Given the description of an element on the screen output the (x, y) to click on. 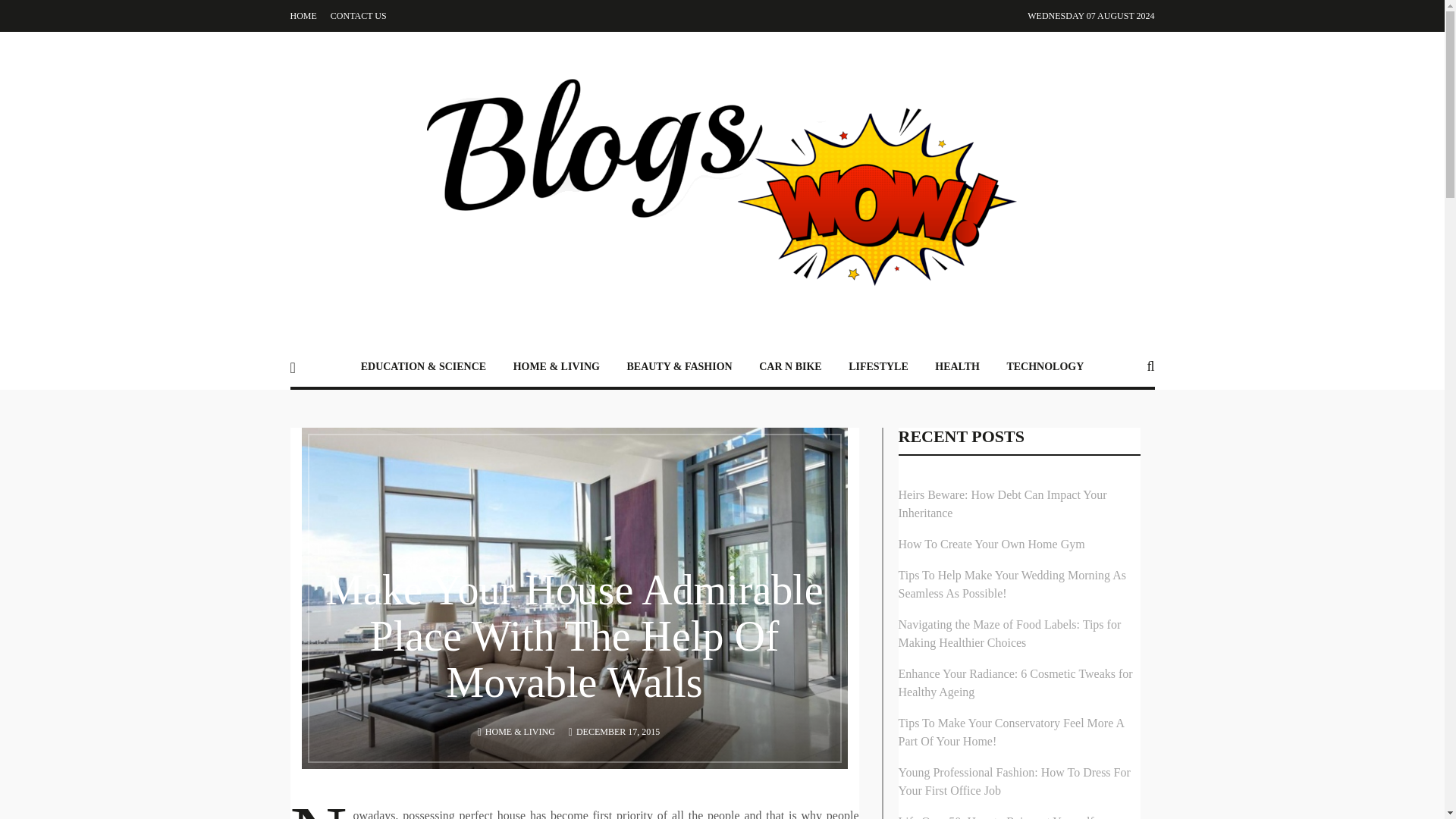
TECHNOLOGY (1045, 366)
HOME (302, 15)
CAR N BIKE (789, 366)
DECEMBER 17, 2015 (617, 731)
LIFESTYLE (877, 366)
CONTACT US (358, 15)
HEALTH (957, 366)
